Given the description of an element on the screen output the (x, y) to click on. 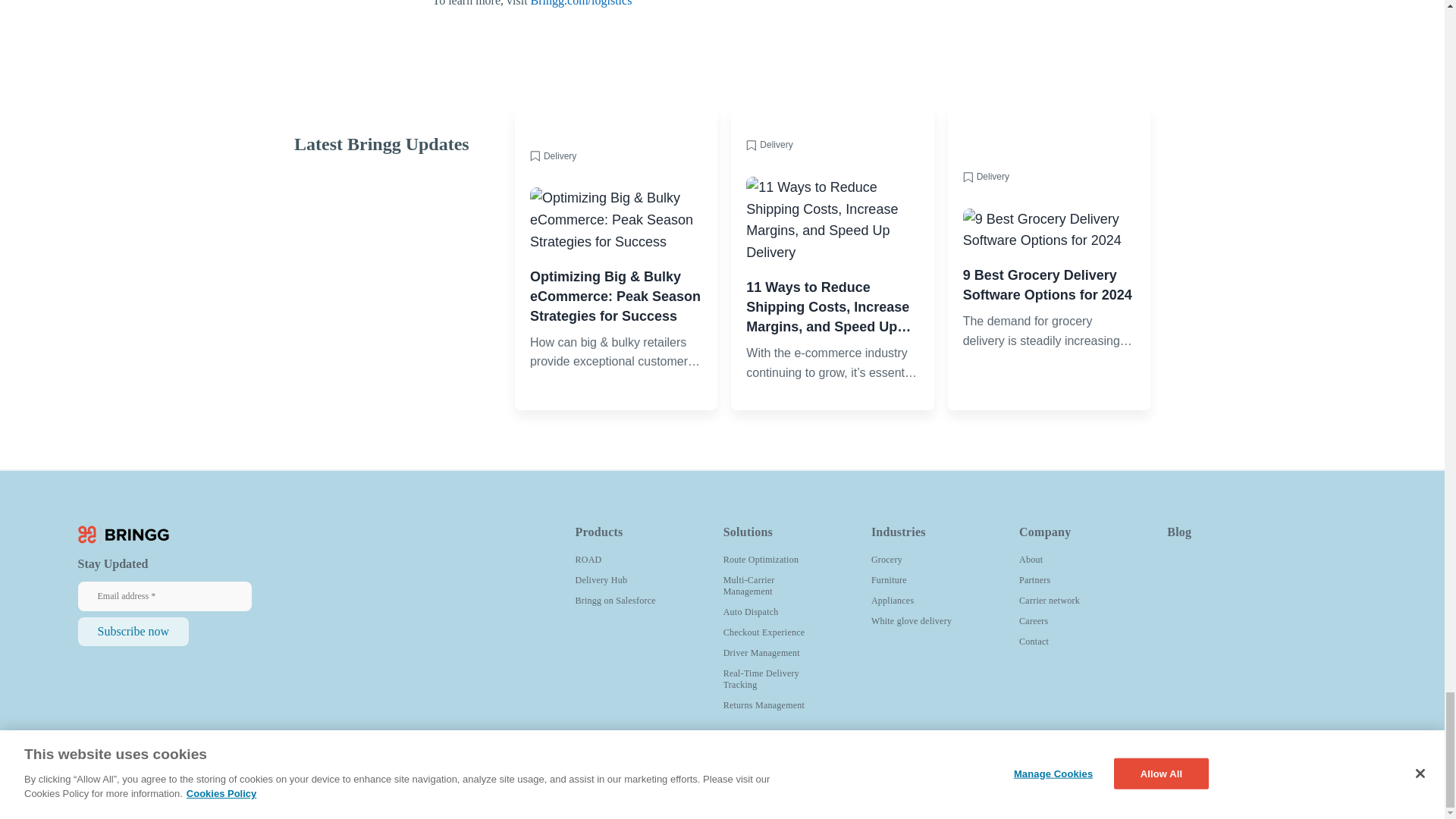
Subscribe now (133, 631)
